Given the description of an element on the screen output the (x, y) to click on. 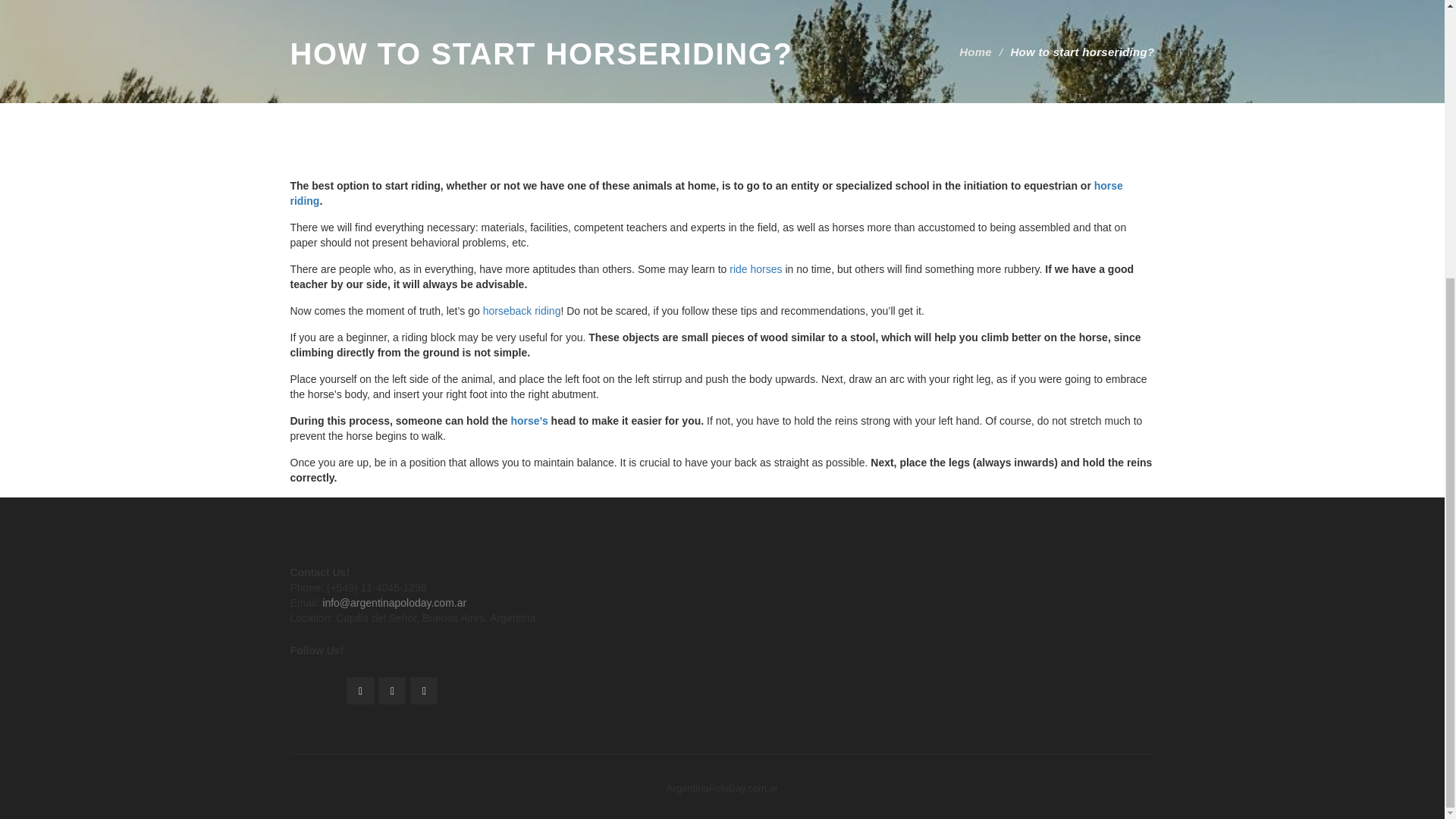
horseback riding (521, 310)
horse riding (705, 193)
ride horses (755, 268)
